Given the description of an element on the screen output the (x, y) to click on. 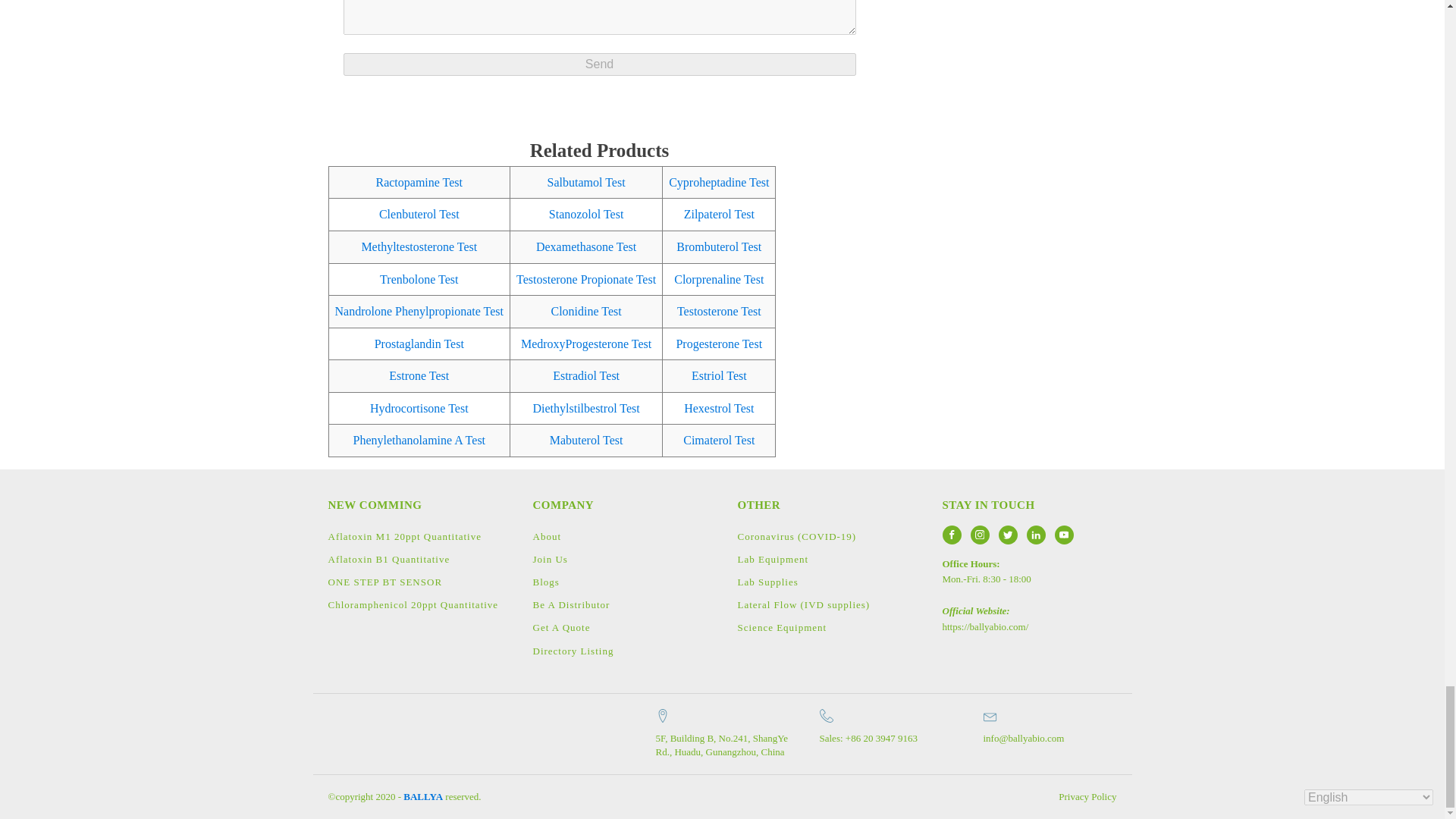
Send (599, 64)
